Given the description of an element on the screen output the (x, y) to click on. 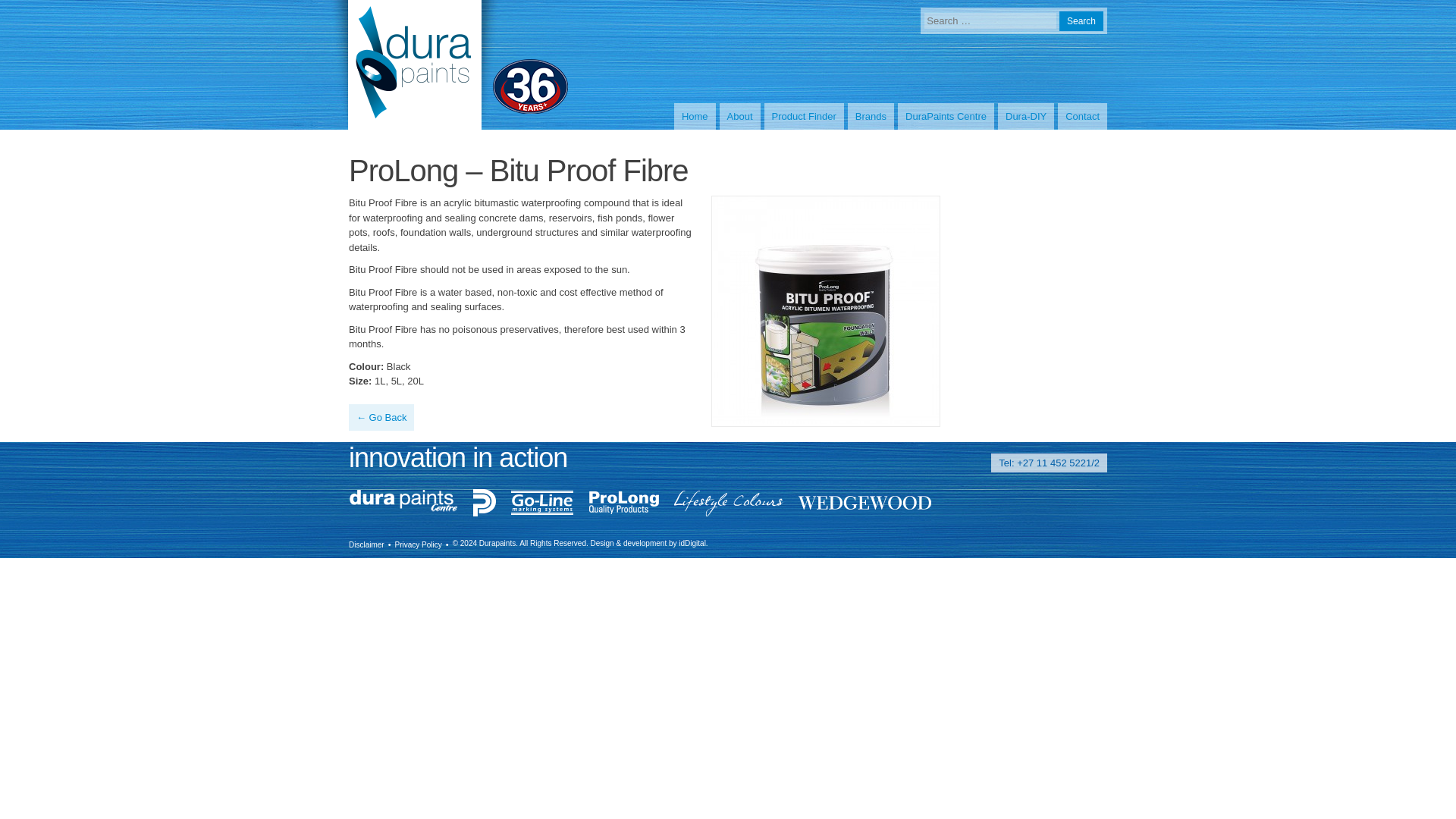
Privacy Policy (418, 543)
Search (1081, 21)
Contact (1082, 116)
Product Finder (804, 116)
Search (1081, 21)
About (739, 116)
Disclaimer (366, 543)
Brands (870, 116)
Home (695, 116)
Search (1081, 21)
